Given the description of an element on the screen output the (x, y) to click on. 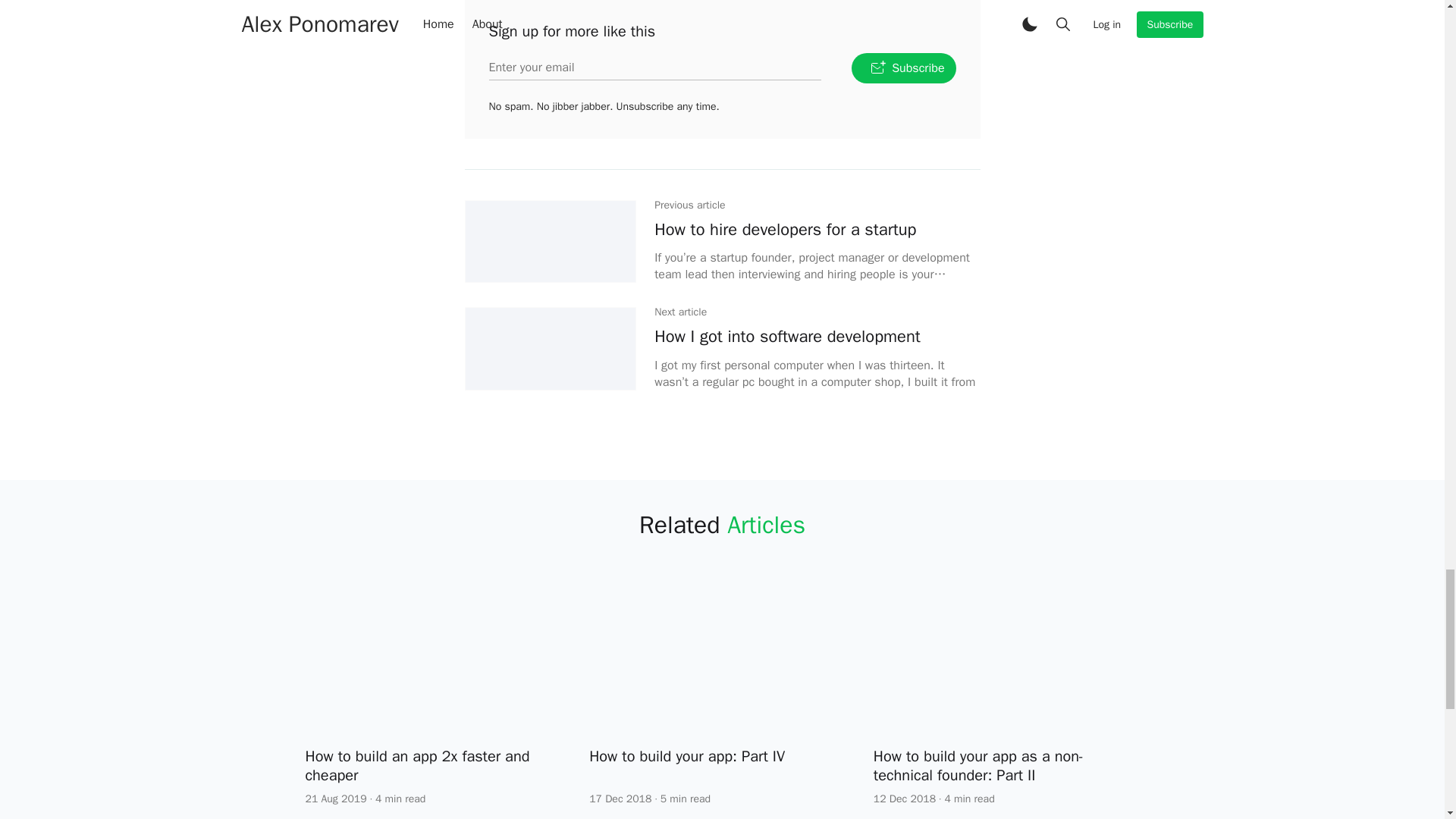
Updated 17 Dec 2018 (619, 798)
4 min read (968, 798)
5 min read (685, 798)
Updated 20 Nov 2019 (335, 798)
Updated 12 Dec 2018 (904, 798)
4 min read (400, 798)
